Given the description of an element on the screen output the (x, y) to click on. 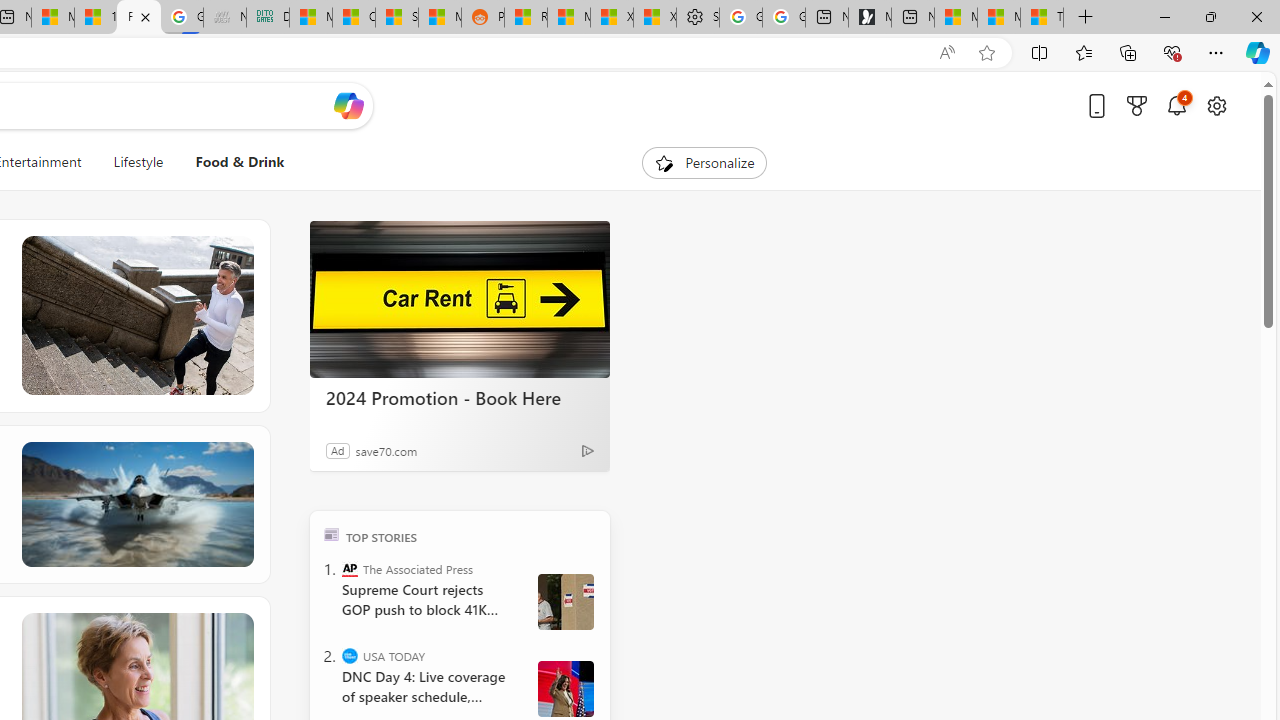
Navy Quest (224, 17)
These 3 Stocks Pay You More Than 5% to Own Them (1042, 17)
Food & Drink (239, 162)
Open settings (1216, 105)
Microsoft Start Gaming (869, 17)
Lifestyle (138, 162)
USA TODAY (349, 655)
